Given the description of an element on the screen output the (x, y) to click on. 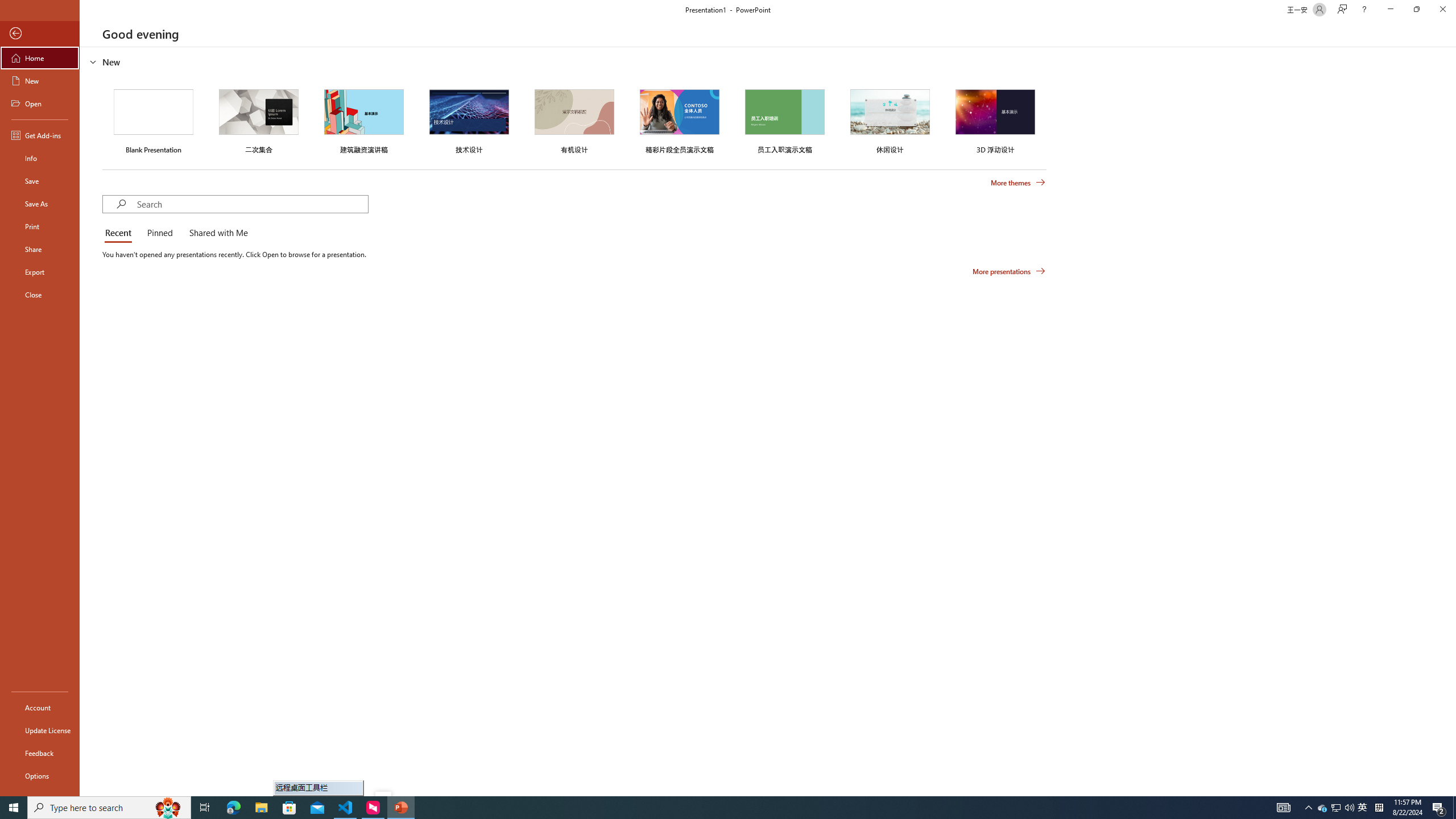
Save As (40, 203)
Recent (119, 233)
Print (40, 225)
Update License (40, 730)
New (40, 80)
Account (40, 707)
